Given the description of an element on the screen output the (x, y) to click on. 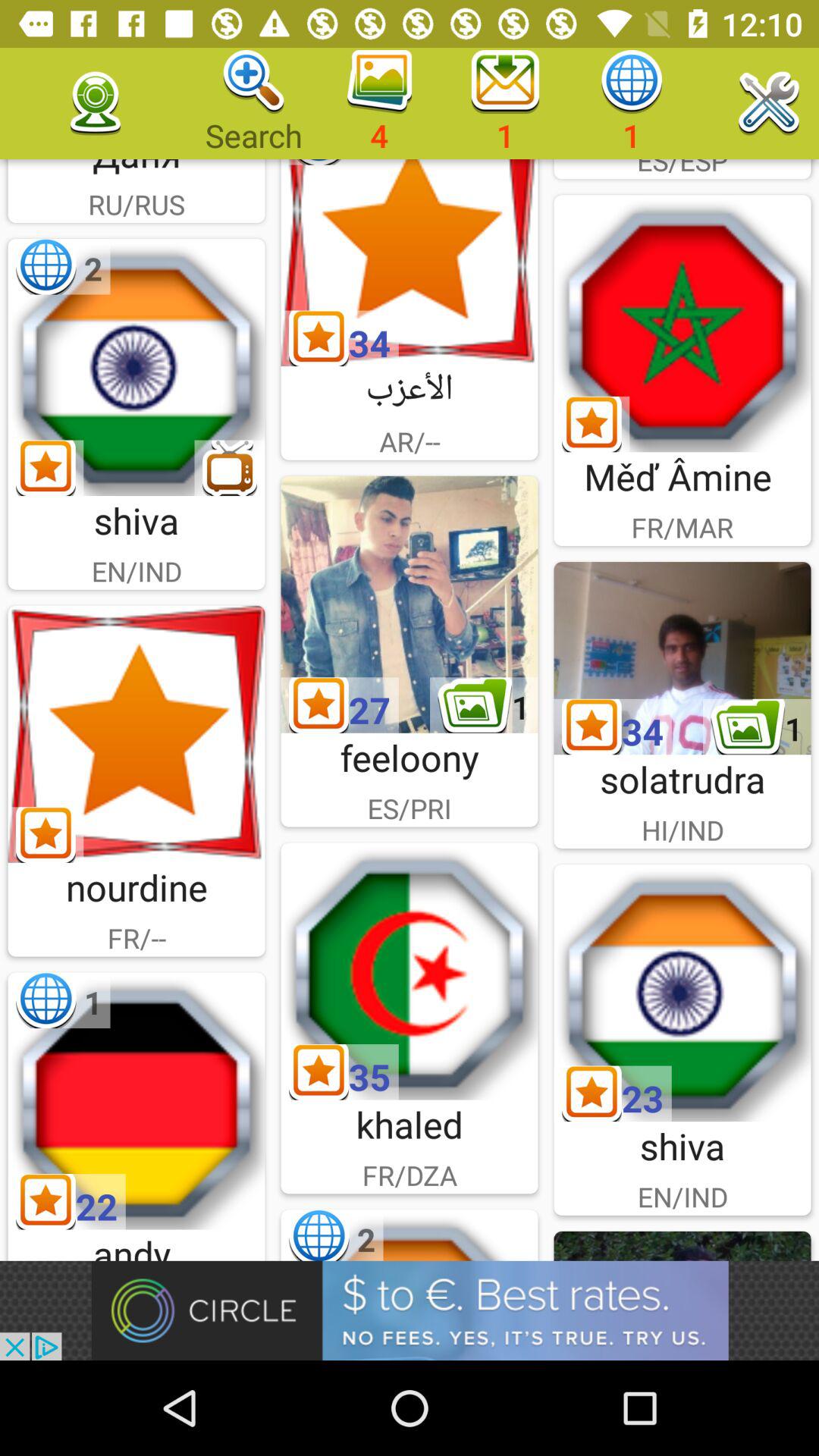
search by country (409, 970)
